Given the description of an element on the screen output the (x, y) to click on. 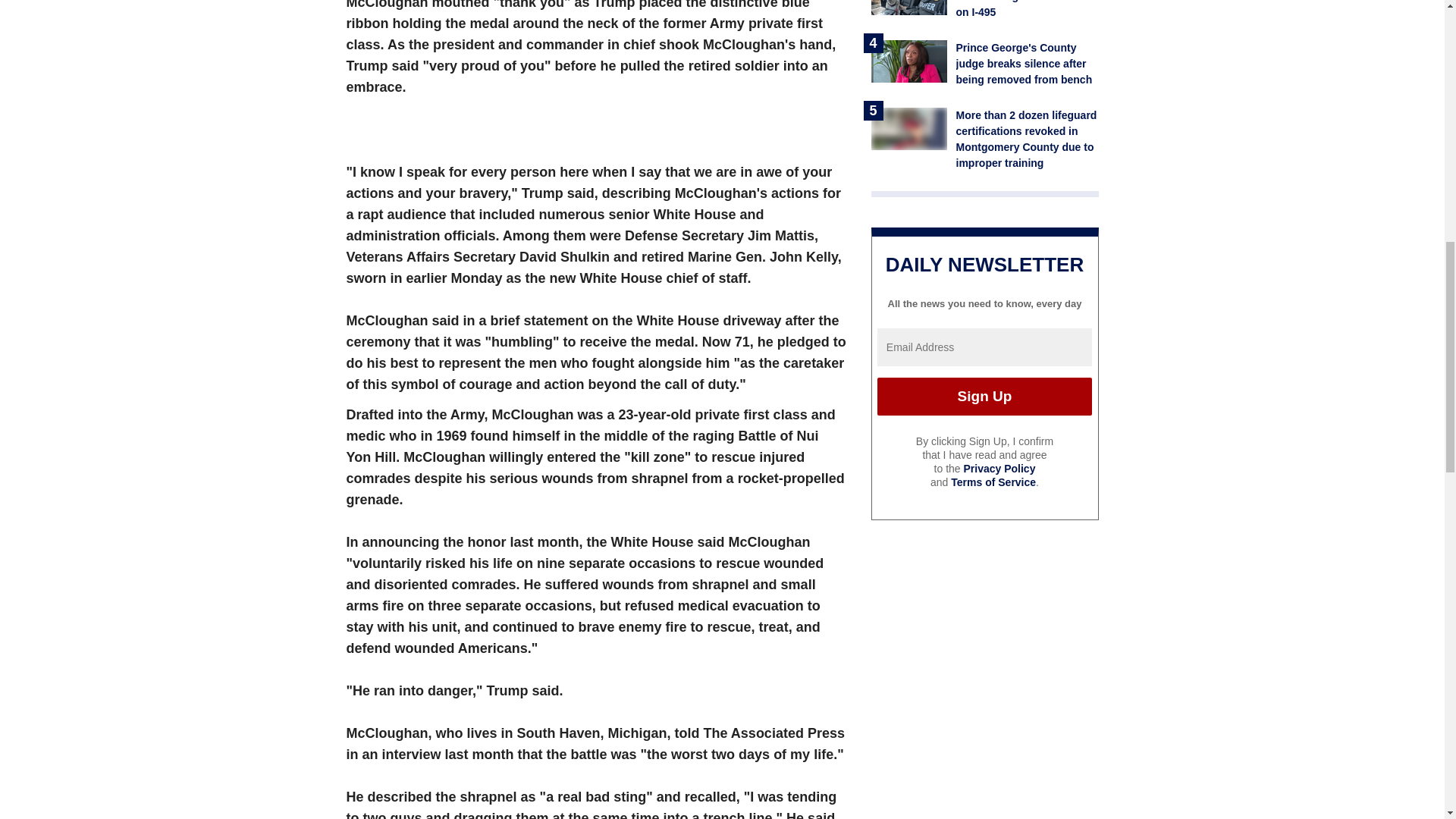
Sign Up (984, 396)
